Given the description of an element on the screen output the (x, y) to click on. 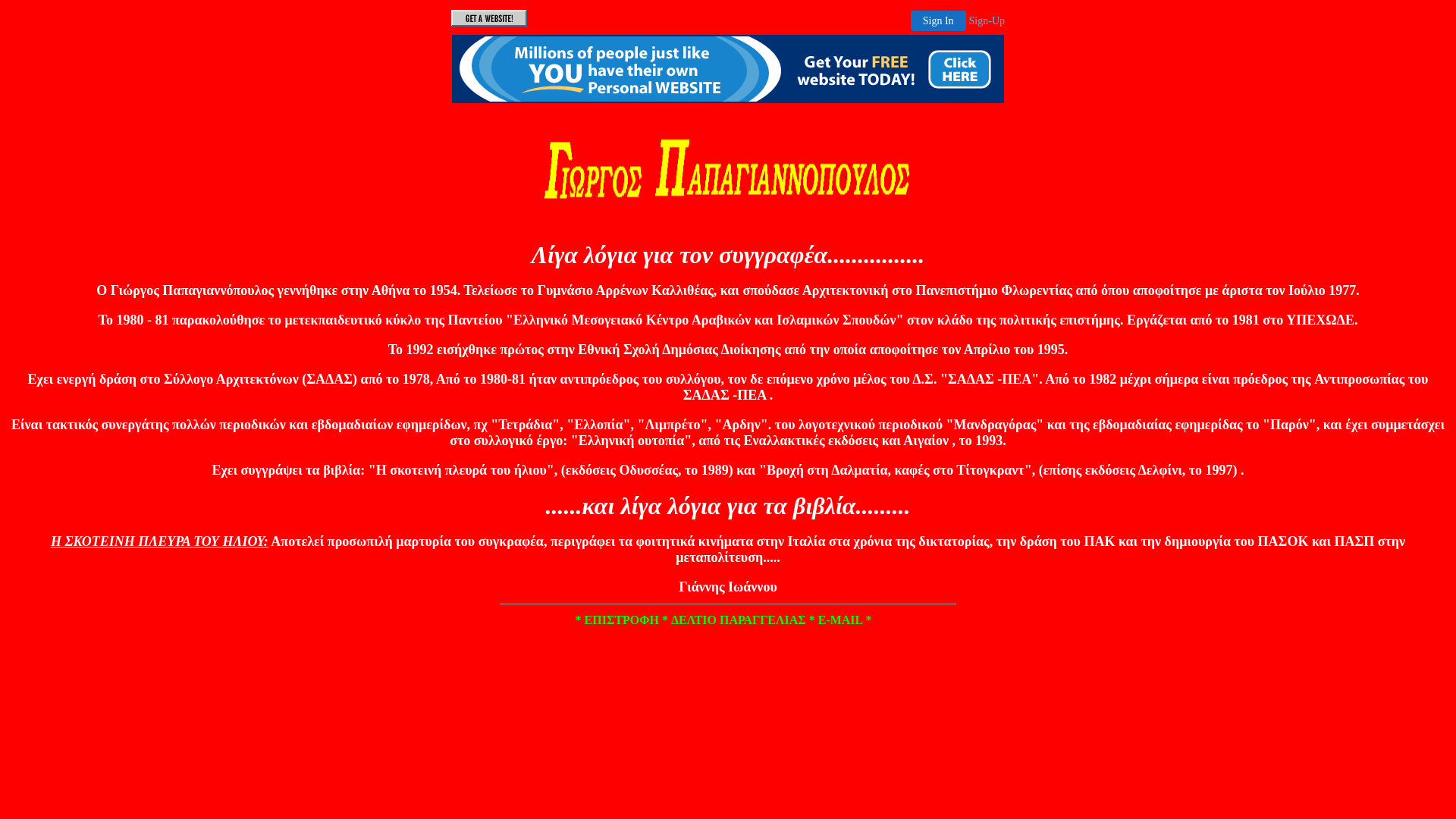
Sign-Up Element type: text (986, 20)
Sign In Element type: text (938, 20)
E-MAIL * Element type: text (845, 619)
